Given the description of an element on the screen output the (x, y) to click on. 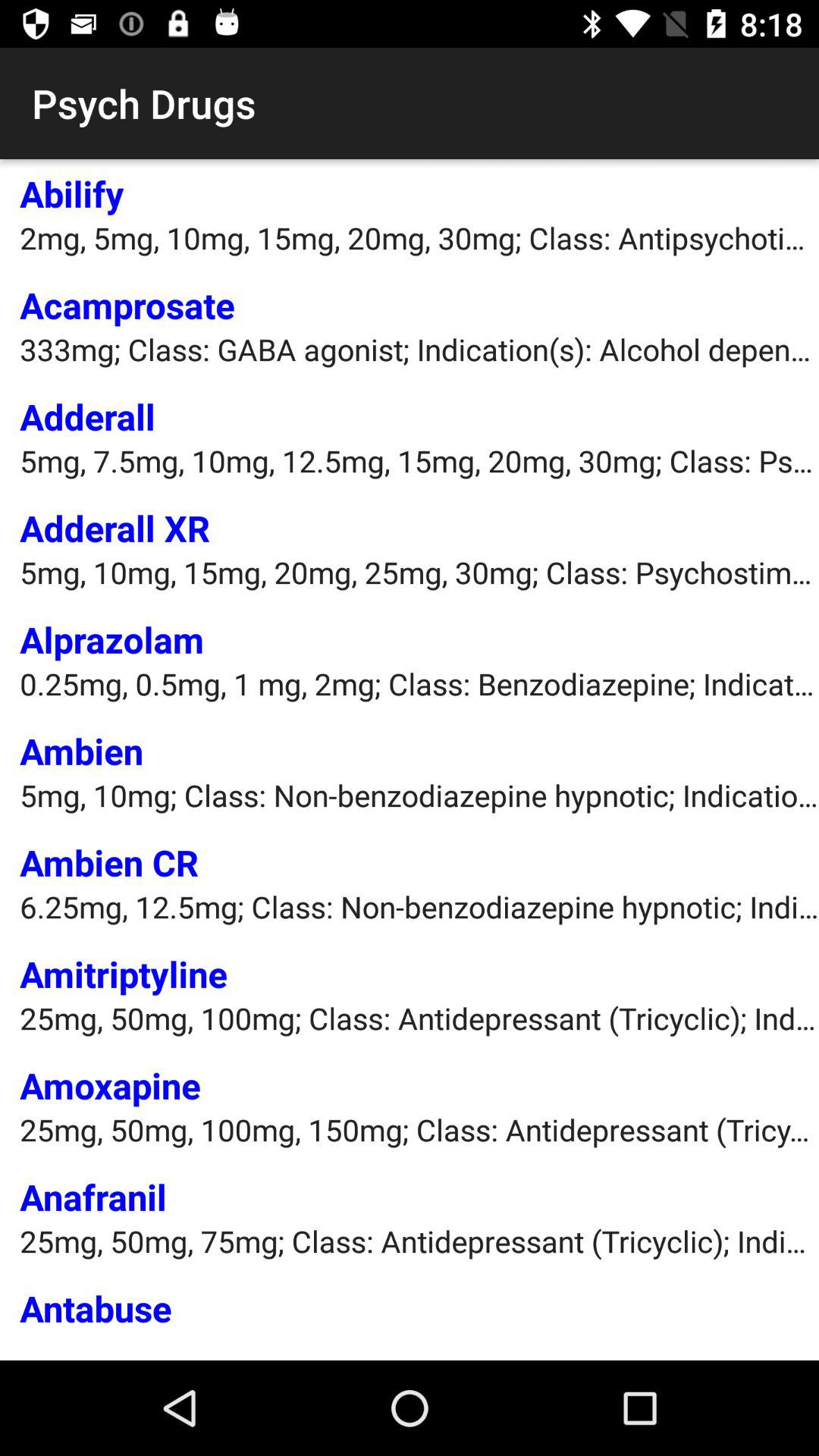
choose abilify app (71, 193)
